Given the description of an element on the screen output the (x, y) to click on. 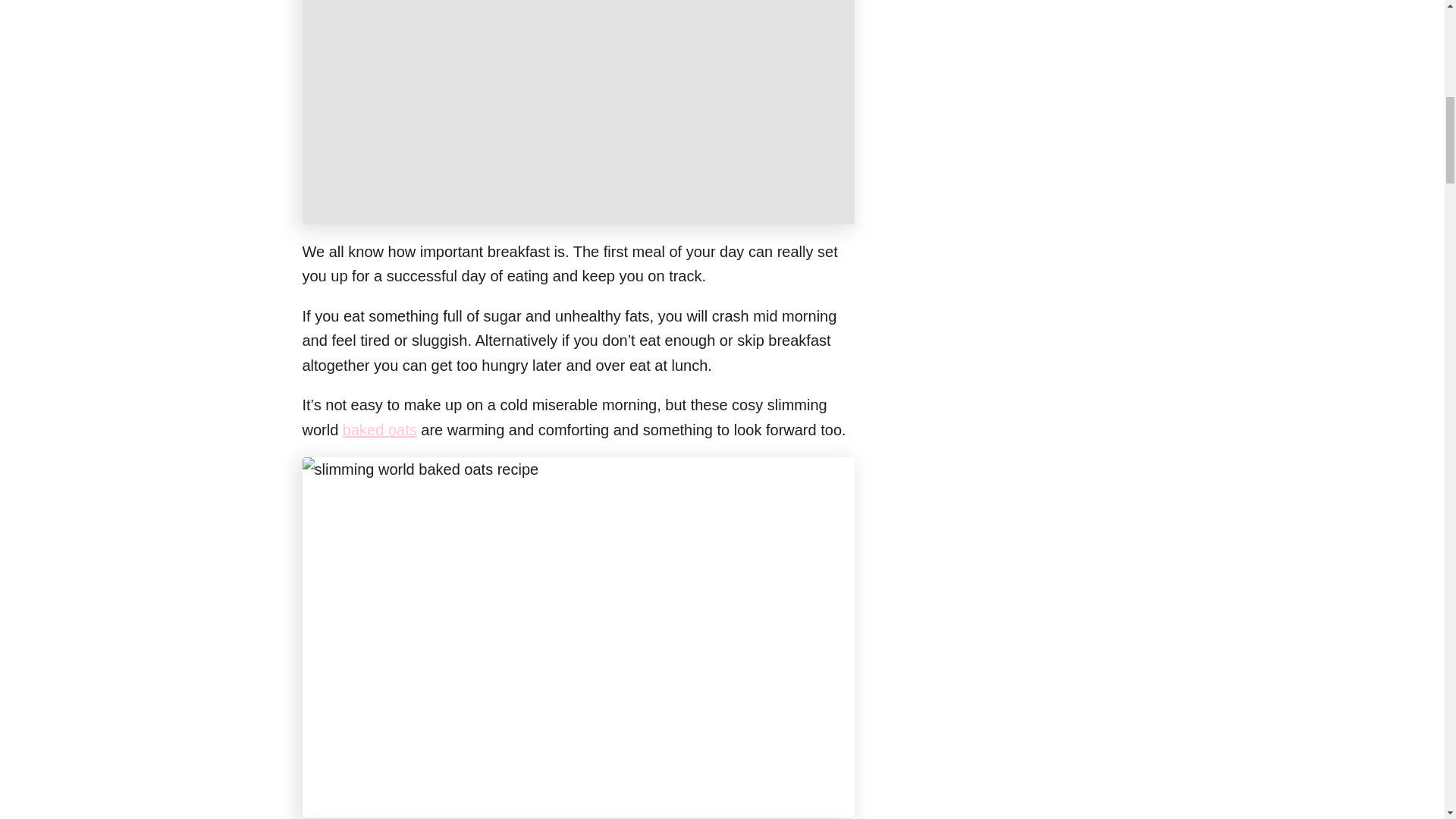
baked oats (379, 429)
